Given the description of an element on the screen output the (x, y) to click on. 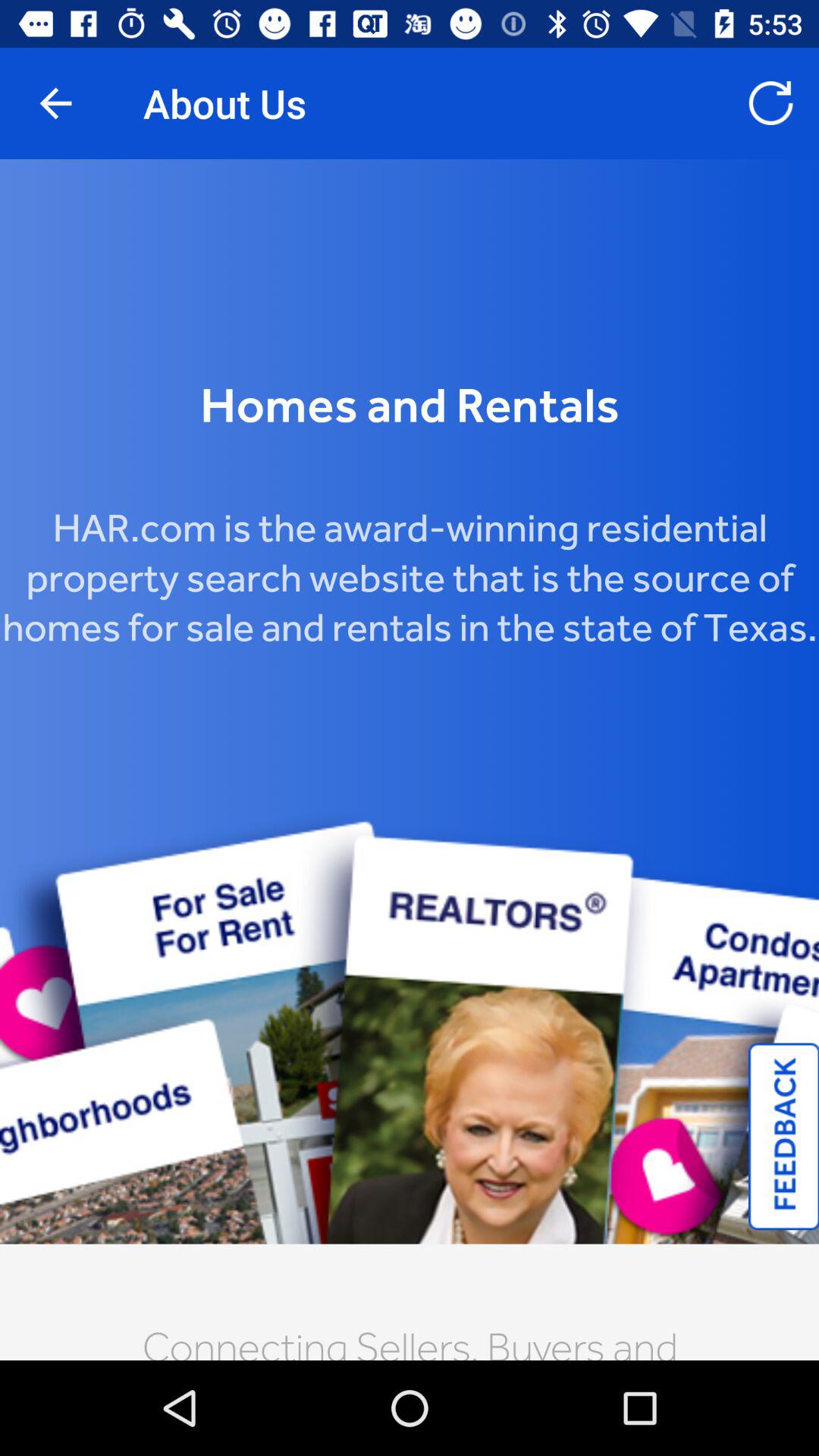
about us (409, 759)
